Given the description of an element on the screen output the (x, y) to click on. 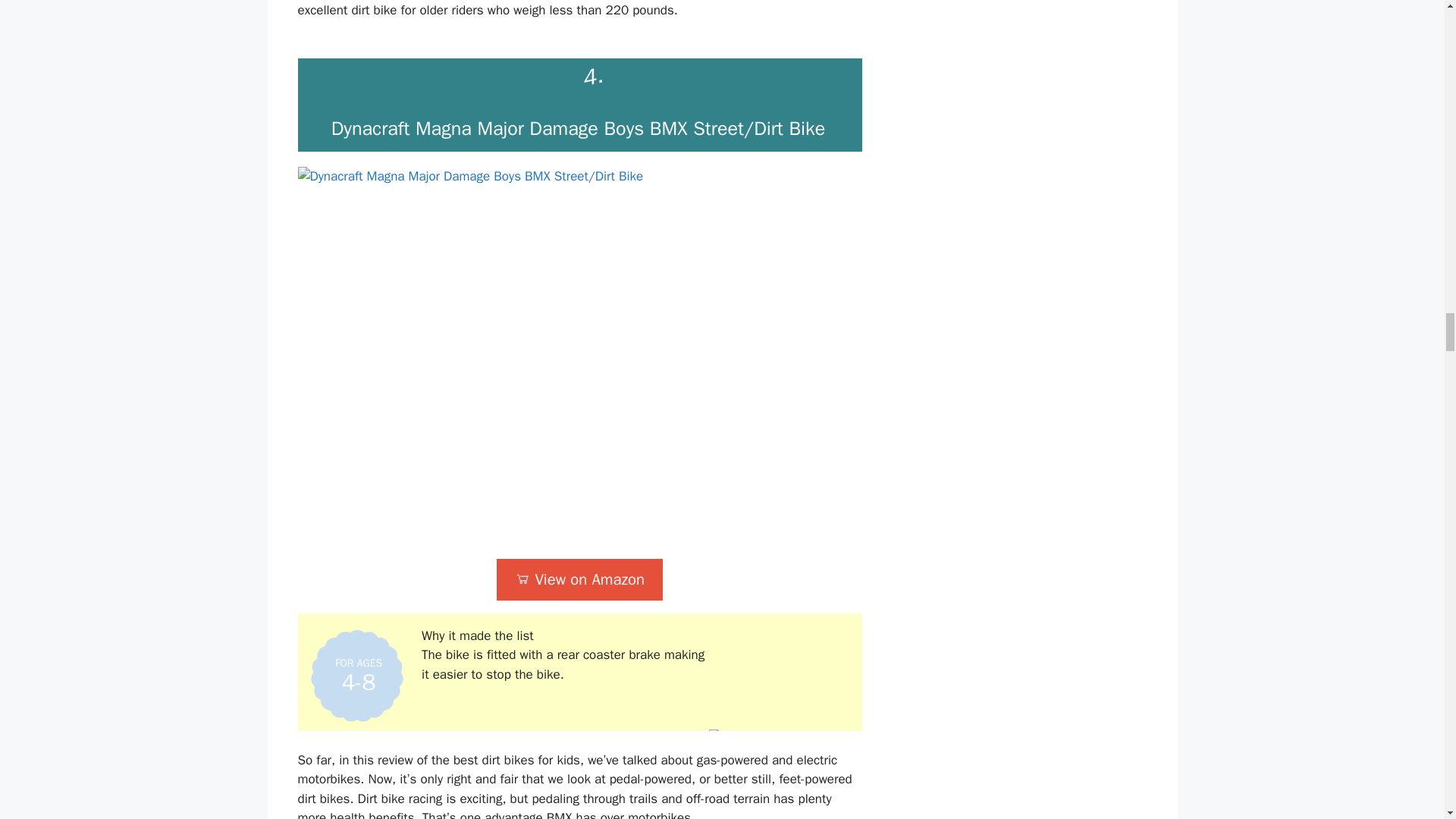
View on Amazon (579, 579)
